Given the description of an element on the screen output the (x, y) to click on. 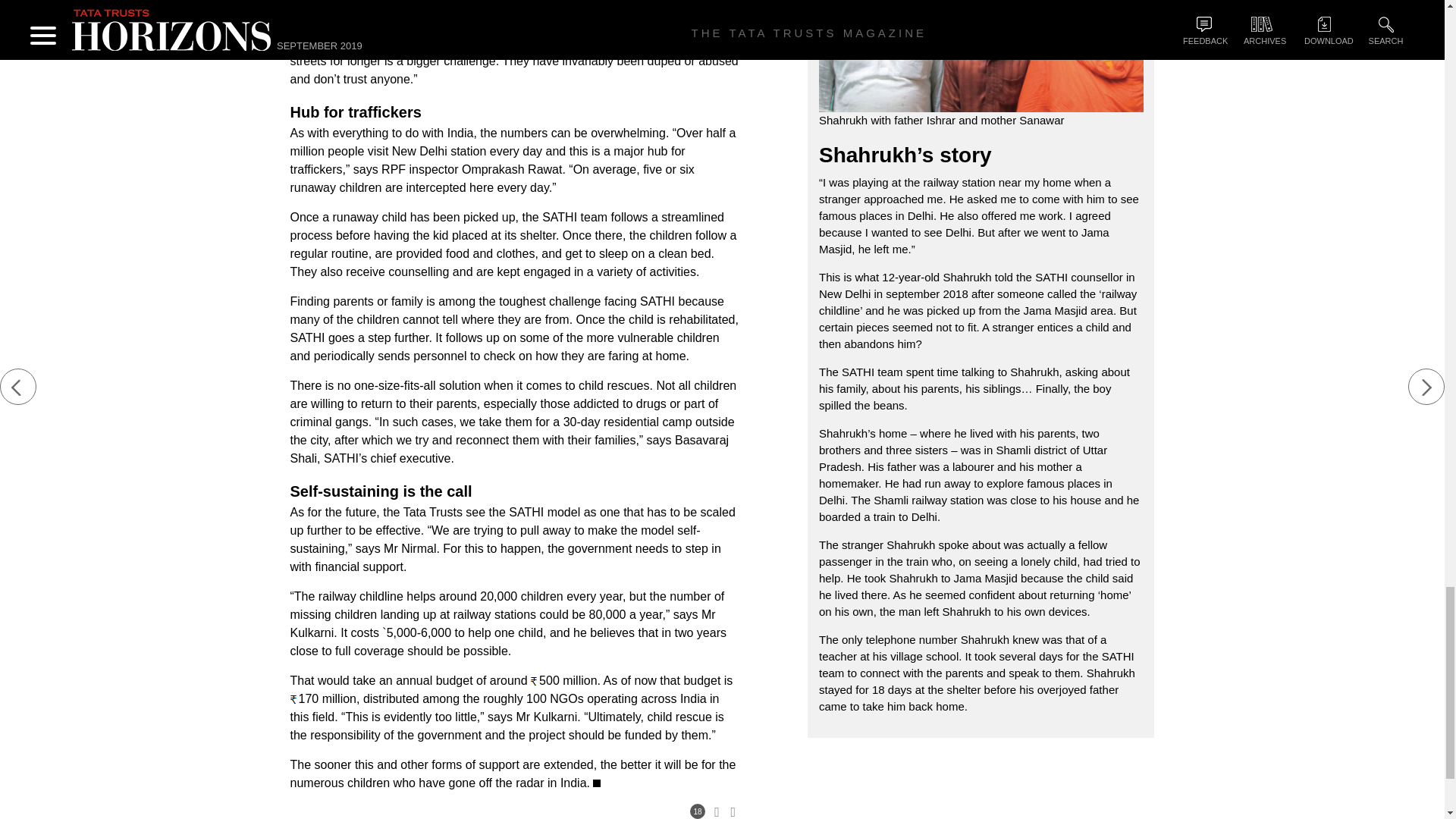
Shahrukh with father Ishrar and mother Sanawar (980, 56)
